Given the description of an element on the screen output the (x, y) to click on. 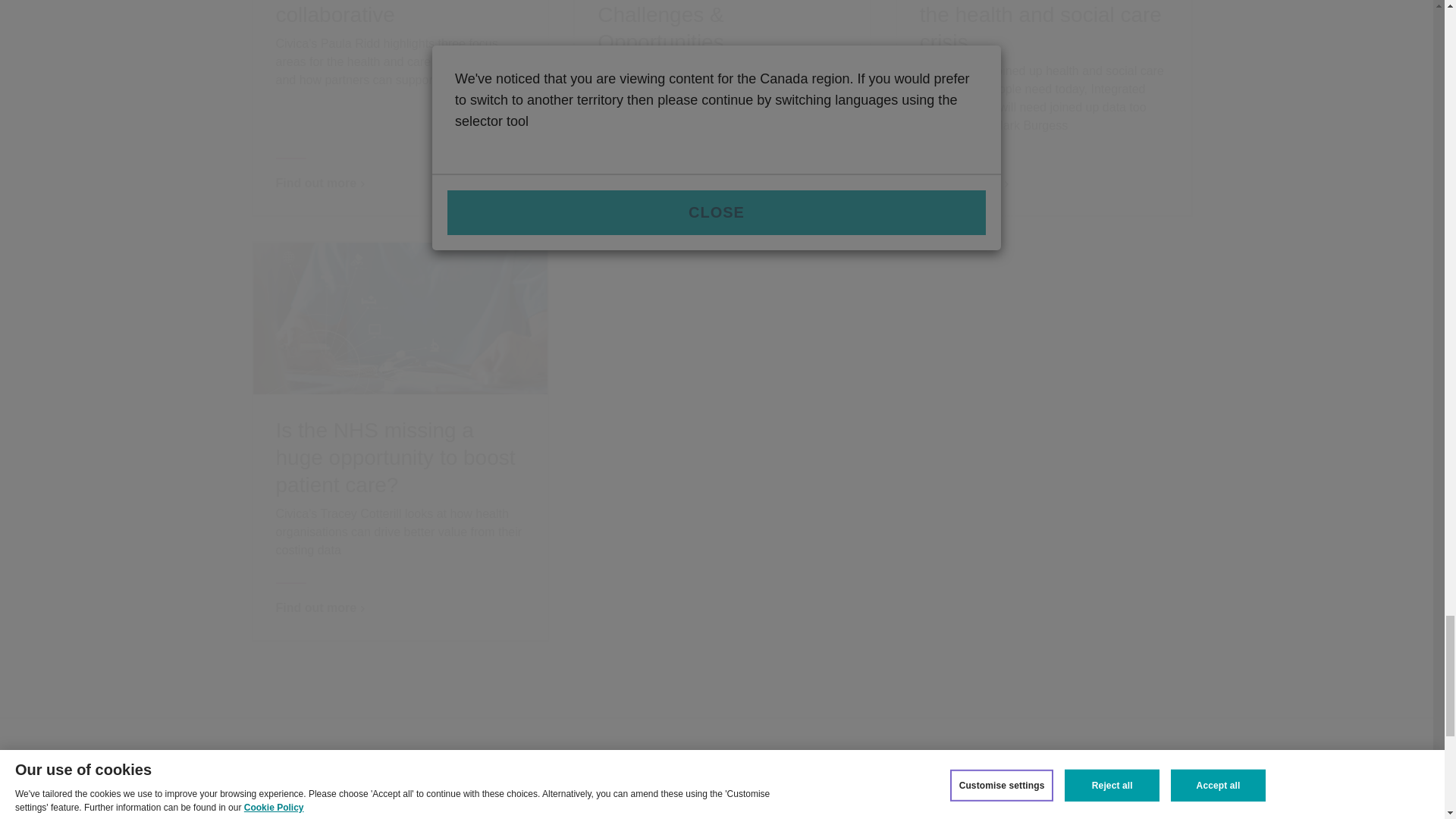
Master Data Management (805, 808)
